Given the description of an element on the screen output the (x, y) to click on. 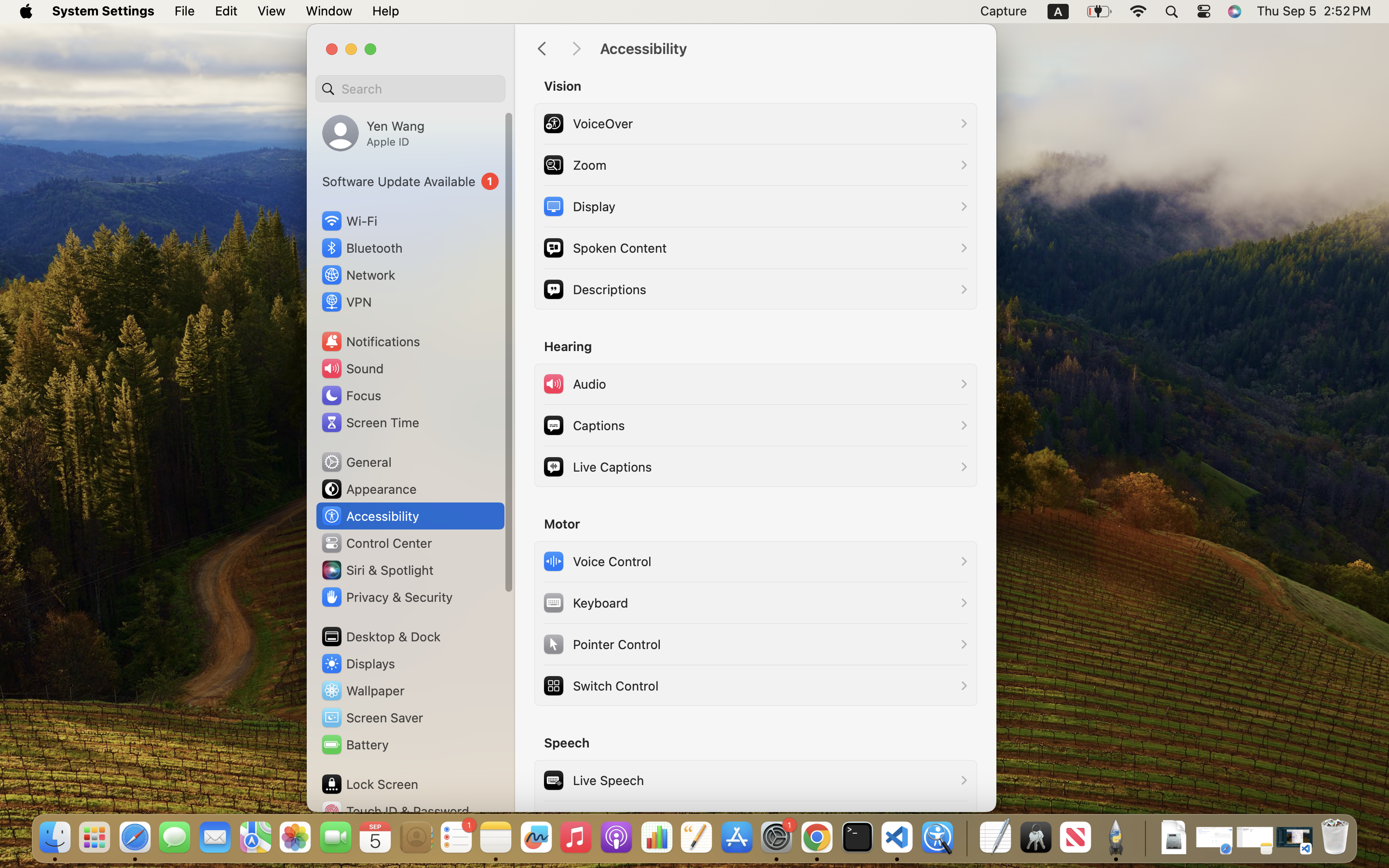
Touch ID & Password Element type: AXStaticText (394, 810)
VPN Element type: AXStaticText (345, 301)
Screen Time Element type: AXStaticText (369, 422)
Control Center Element type: AXStaticText (376, 542)
0.4285714328289032 Element type: AXDockItem (965, 837)
